Given the description of an element on the screen output the (x, y) to click on. 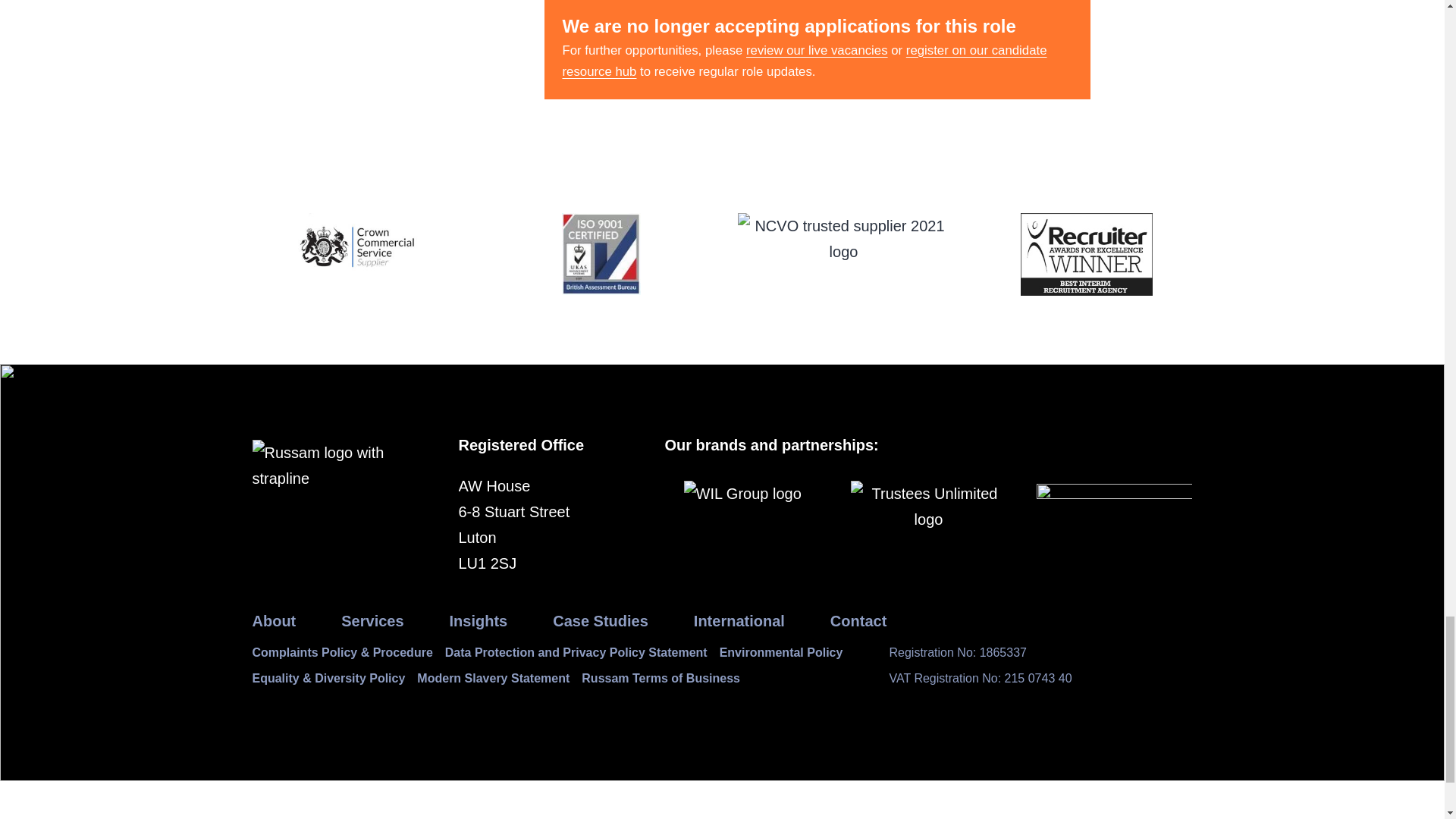
review our live vacancies (816, 50)
